Given the description of an element on the screen output the (x, y) to click on. 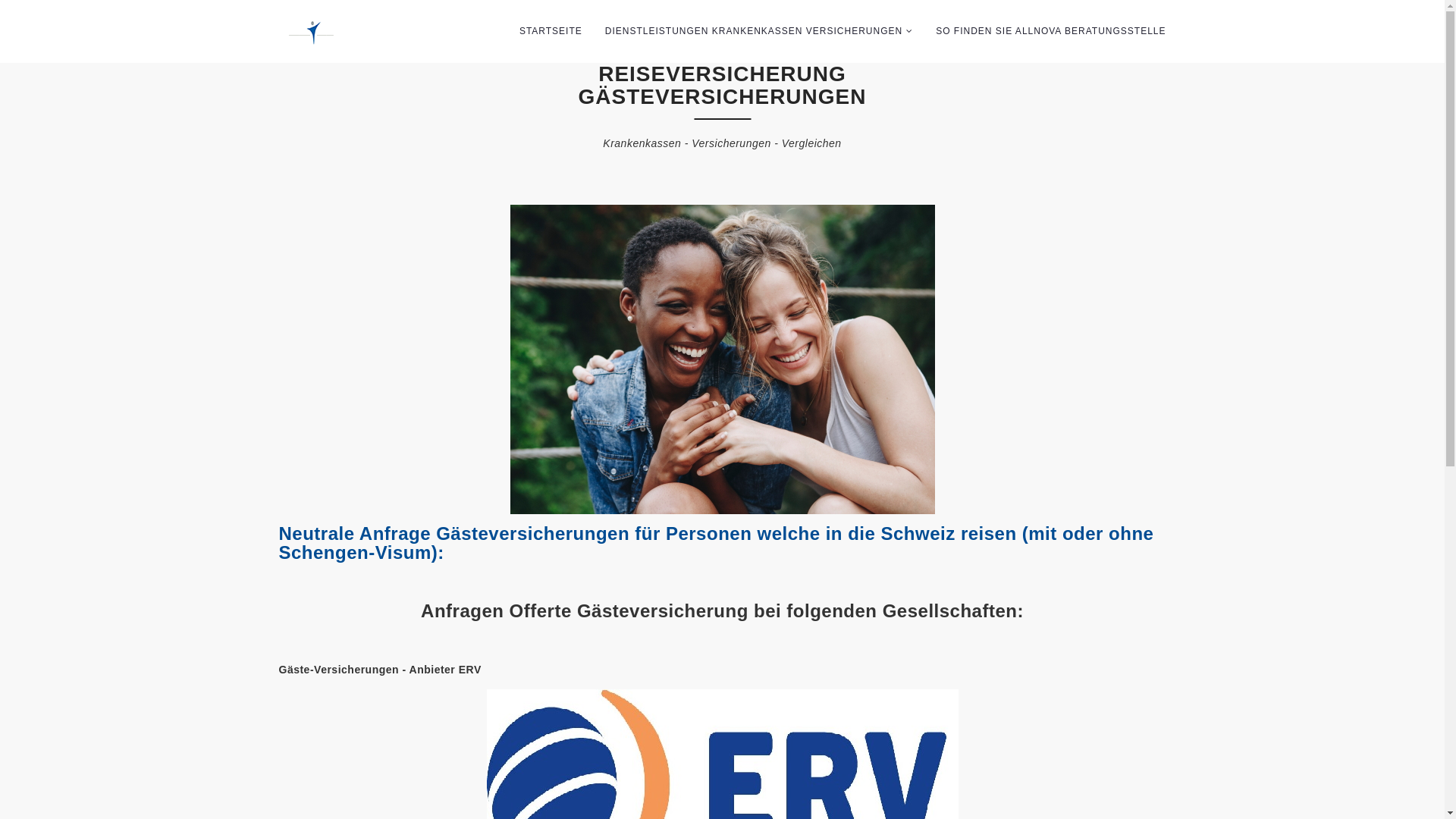
STARTSEITE Element type: text (550, 31)
3A Allfinanz Assekuranz Allnova AG Element type: hover (343, 31)
DIENSTLEISTUNGEN KRANKENKASSEN VERSICHERUNGEN Element type: text (759, 31)
SO FINDEN SIE ALLNOVA BERATUNGSSTELLE Element type: text (1050, 31)
